Given the description of an element on the screen output the (x, y) to click on. 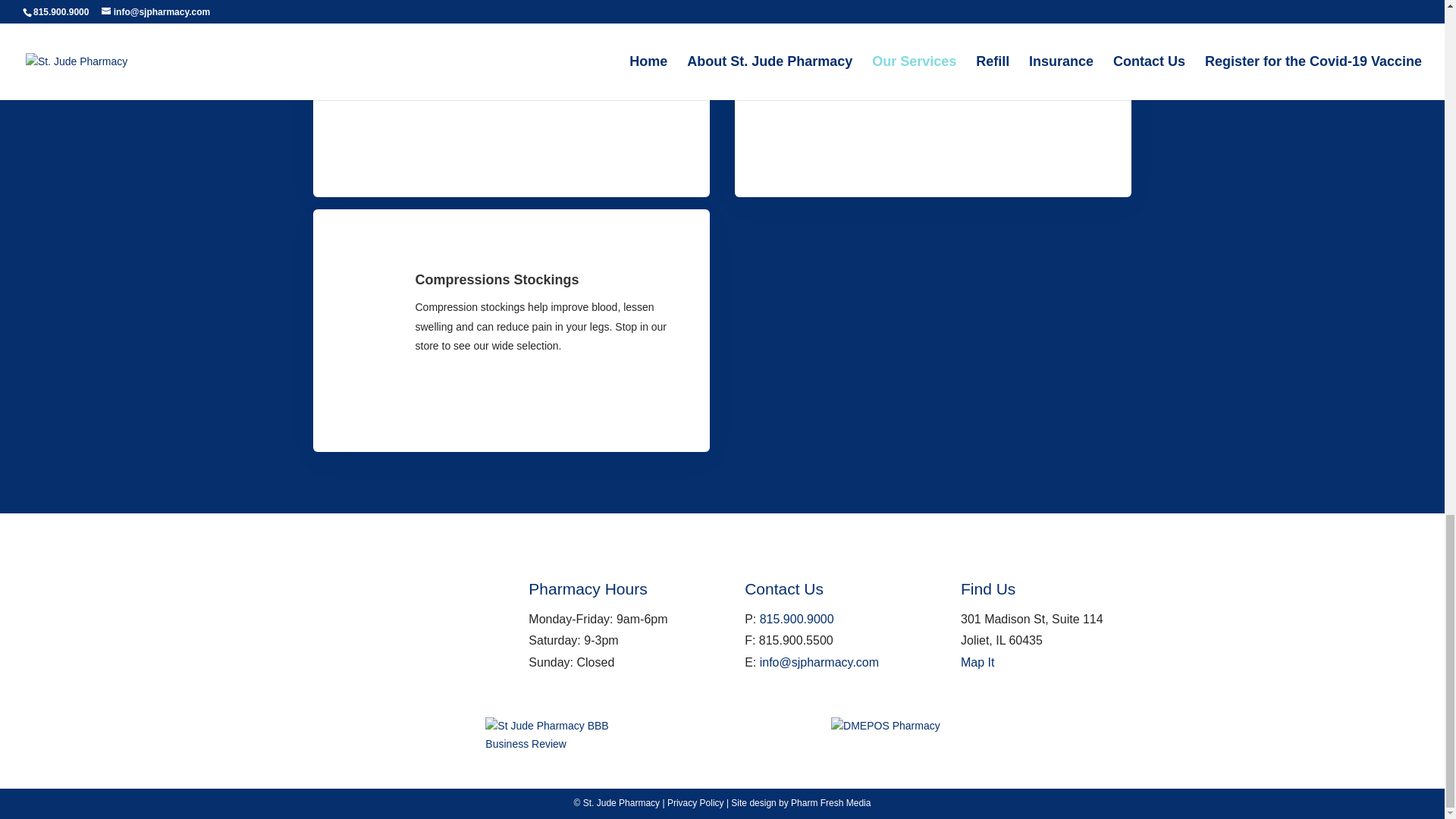
Pharm Fresh Media (830, 802)
Map It (977, 662)
815.900.9000 (797, 618)
Privacy Policy (694, 802)
DMEPOS Pharmacy (885, 725)
